Given the description of an element on the screen output the (x, y) to click on. 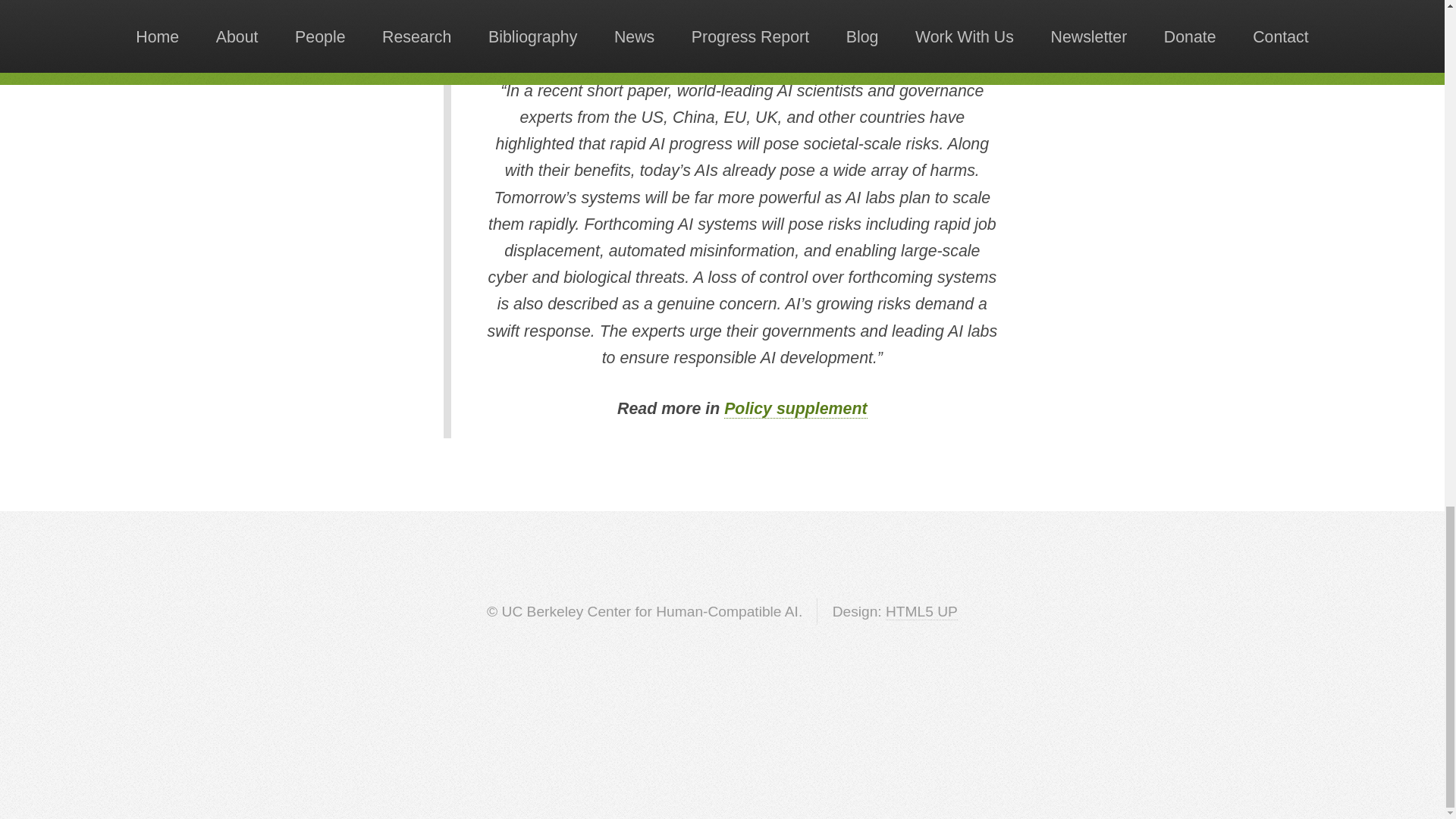
Download (769, 13)
HTML5 UP (921, 611)
Policy supplement (794, 408)
Managing AI Risks in an Era of Rapid Progress (576, 6)
